Given the description of an element on the screen output the (x, y) to click on. 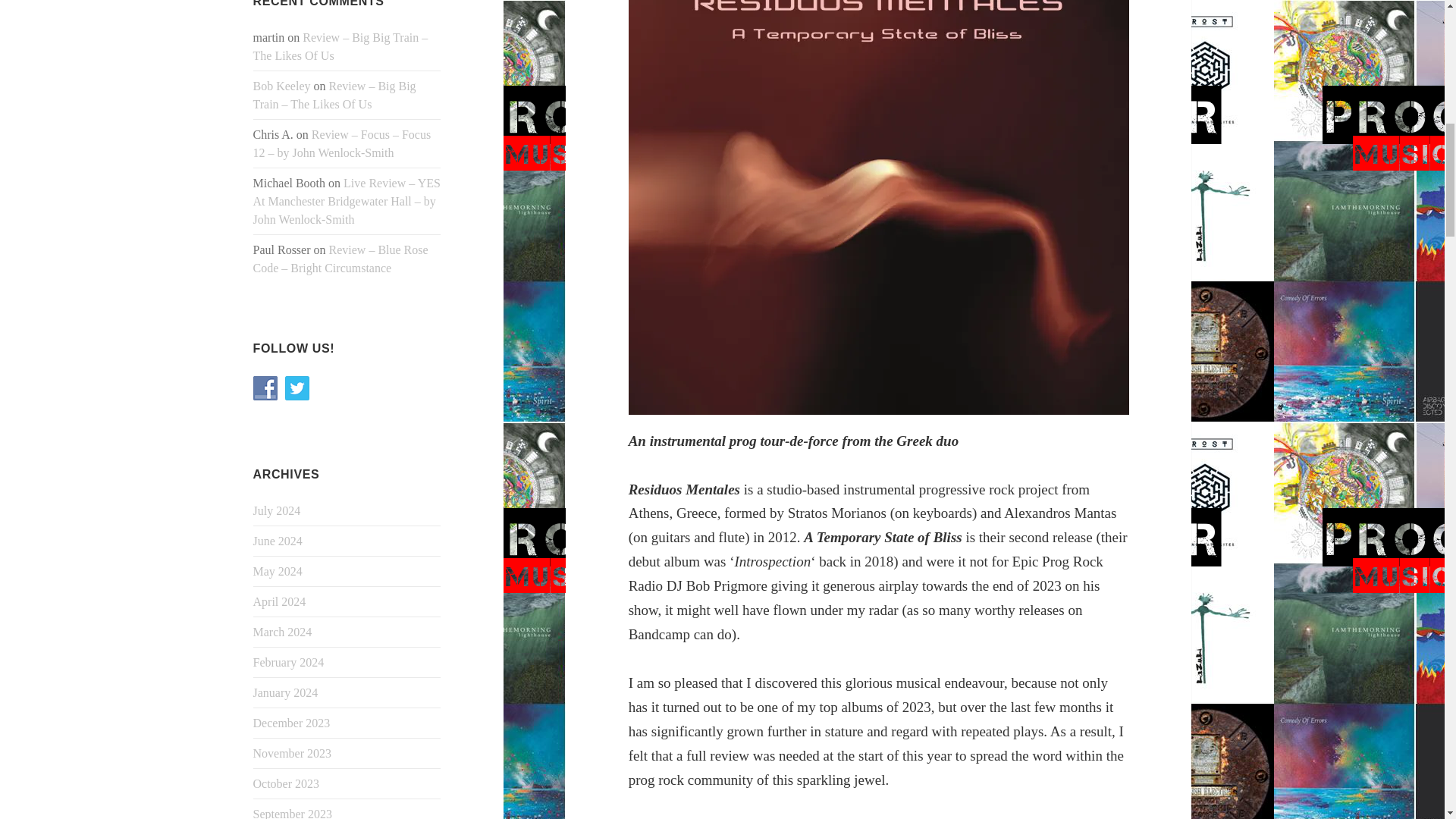
October 2023 (286, 783)
May 2024 (277, 571)
March 2024 (283, 631)
Bob Keeley (282, 85)
December 2023 (291, 722)
January 2024 (285, 692)
June 2024 (277, 540)
Facebook Progradar (265, 387)
July 2024 (277, 510)
November 2023 (292, 753)
February 2024 (288, 662)
Twitter DTVoicesUK (296, 387)
September 2023 (292, 813)
April 2024 (279, 601)
